Given the description of an element on the screen output the (x, y) to click on. 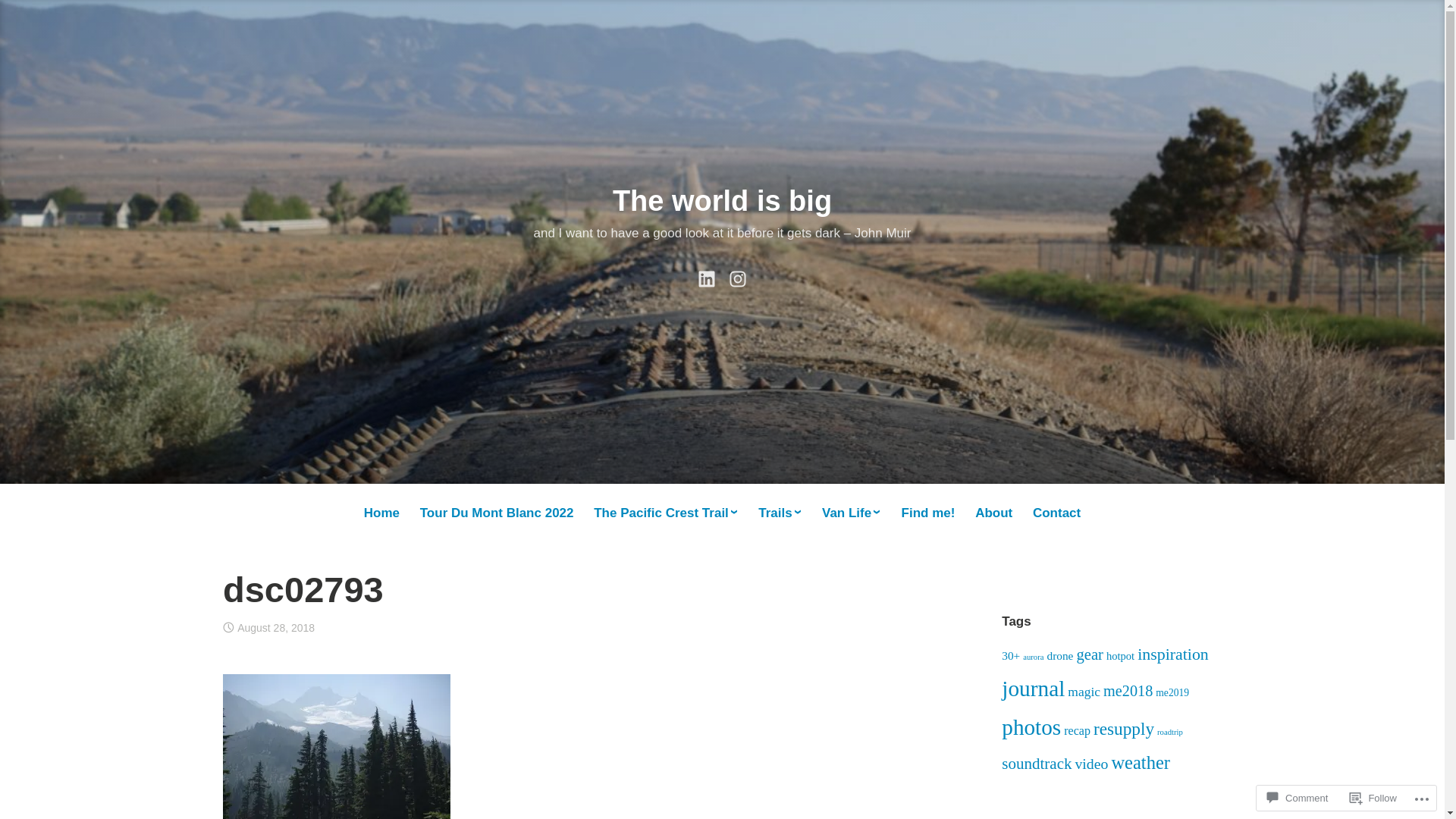
video Element type: text (1090, 763)
Search Element type: text (30, 16)
About Element type: text (993, 513)
me2018 Element type: text (1127, 690)
Van Life Element type: text (851, 513)
Home Element type: text (380, 513)
journal Element type: text (1032, 688)
Trails Element type: text (780, 513)
30+ Element type: text (1010, 655)
The Pacific Crest Trail Element type: text (665, 513)
recap Element type: text (1076, 730)
resupply Element type: text (1123, 728)
Contact Element type: text (1055, 513)
gear Element type: text (1089, 654)
inspiration Element type: text (1172, 653)
The world is big Element type: text (721, 200)
hotpot Element type: text (1120, 655)
Find me! Element type: text (927, 513)
roadtrip Element type: text (1170, 732)
photos Element type: text (1030, 727)
magic Element type: text (1083, 691)
Comment Element type: text (1297, 797)
drone Element type: text (1059, 655)
Tour Du Mont Blanc 2022 Element type: text (496, 513)
me2019 Element type: text (1172, 692)
soundtrack Element type: text (1036, 763)
aurora Element type: text (1032, 656)
weather Element type: text (1140, 762)
Follow Element type: text (1372, 797)
